Given the description of an element on the screen output the (x, y) to click on. 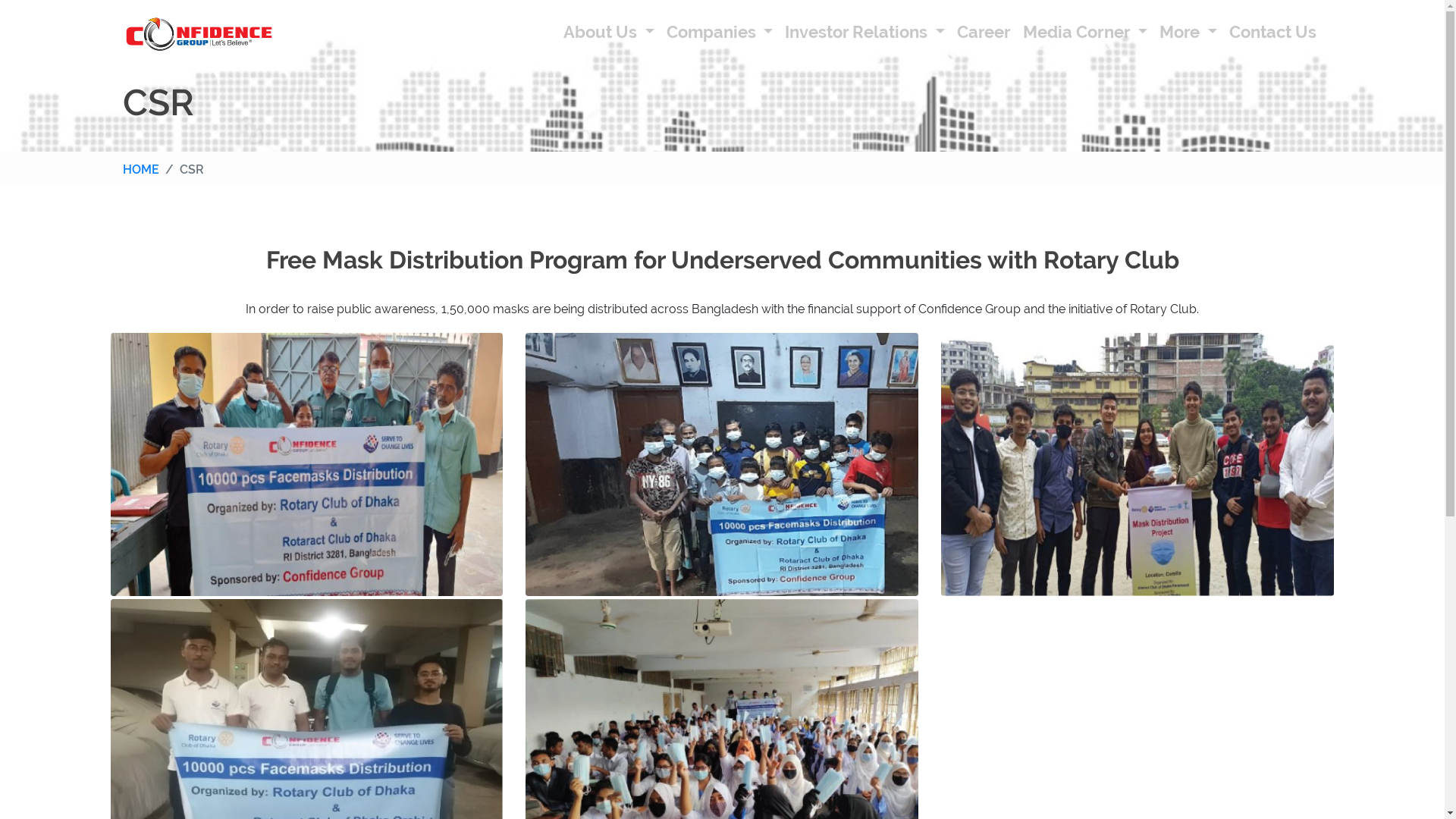
More Element type: text (1188, 32)
Career Element type: text (983, 32)
Companies Element type: text (719, 32)
Investor Relations Element type: text (864, 32)
Contact Us Element type: text (1271, 32)
About Us Element type: text (608, 32)
HOME Element type: text (140, 169)
CSR Element type: text (181, 169)
Media Corner Element type: text (1084, 32)
